Given the description of an element on the screen output the (x, y) to click on. 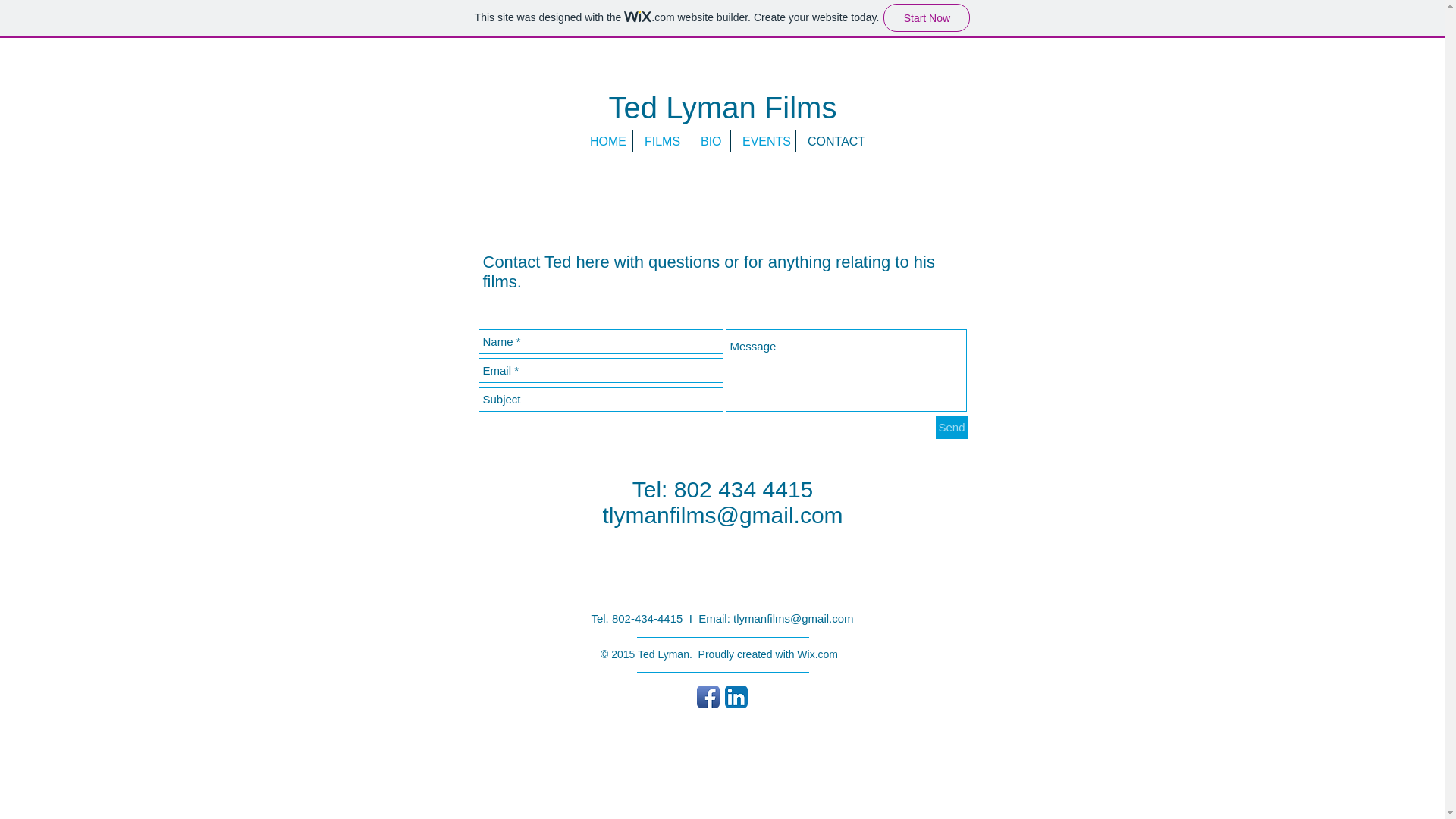
HOME (604, 141)
Send (952, 426)
EVENTS (762, 141)
CONTACT (831, 141)
Wix.com (817, 654)
BIO (709, 141)
